Given the description of an element on the screen output the (x, y) to click on. 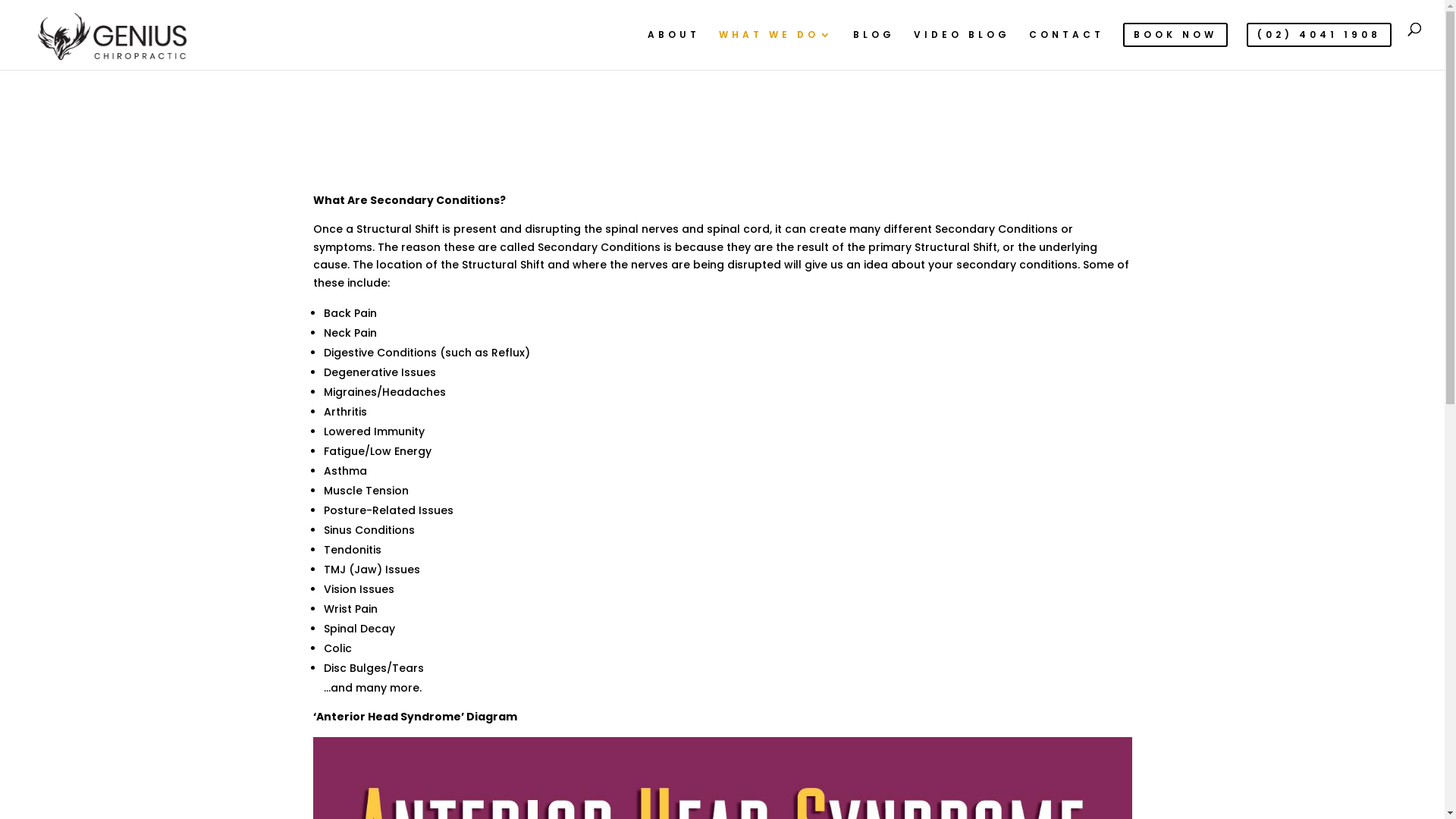
BOOK NOW Element type: text (1175, 45)
(02) 4041 1908 Element type: text (1318, 45)
CONTACT Element type: text (1066, 45)
VIDEO BLOG Element type: text (961, 45)
WHAT WE DO Element type: text (776, 45)
ABOUT Element type: text (673, 45)
BLOG Element type: text (873, 45)
